Given the description of an element on the screen output the (x, y) to click on. 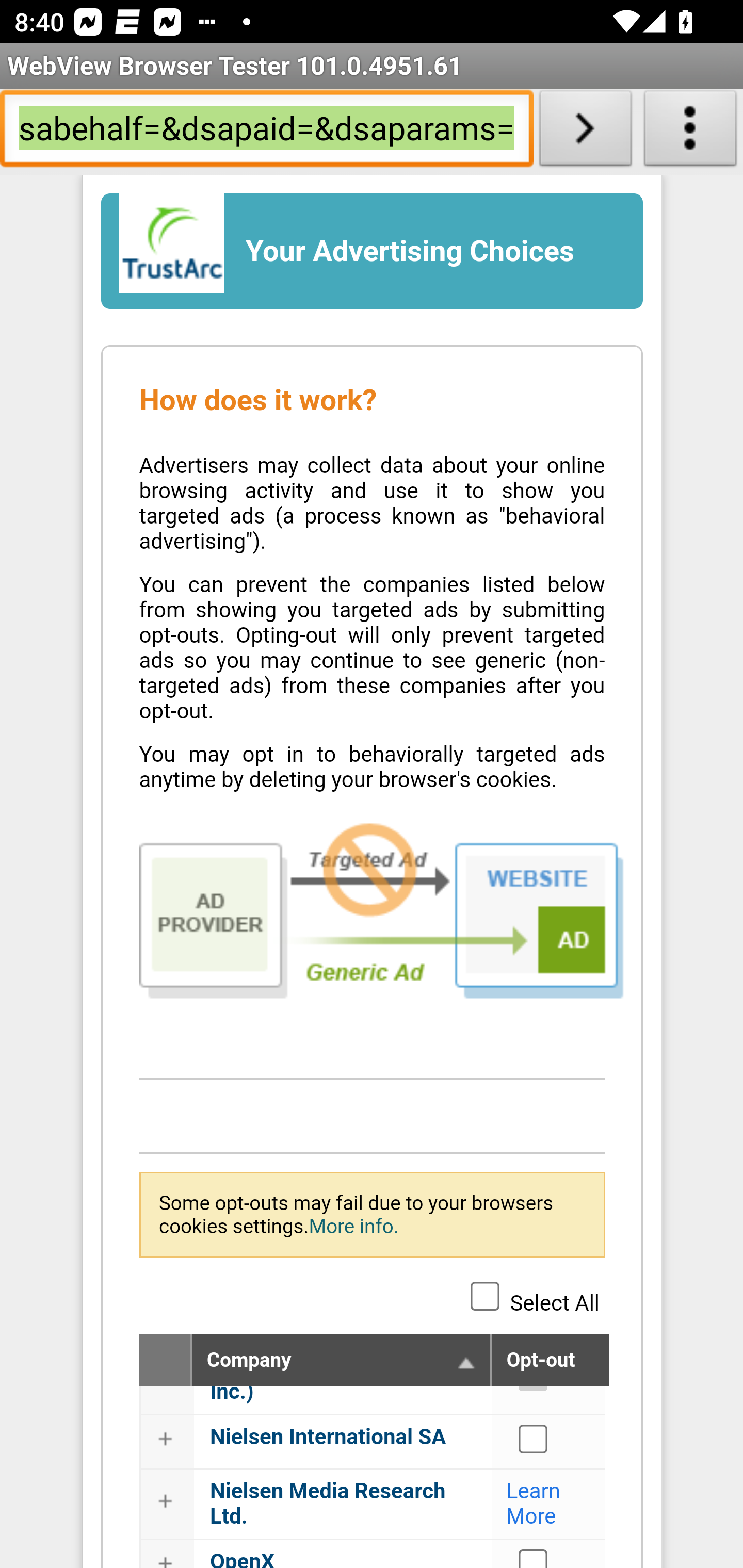
Load URL (585, 132)
About WebView (690, 132)
More info. (352, 1225)
 Select All  (484, 1294)
Company list, sort alphabetically ascending (466, 1361)
Nielsen International SA (328, 1436)
Nielsen International SA (533, 1438)
Nielsen Media Research Ltd. (327, 1504)
Learn More (533, 1504)
OpenX (242, 1557)
OpenX (533, 1557)
